Given the description of an element on the screen output the (x, y) to click on. 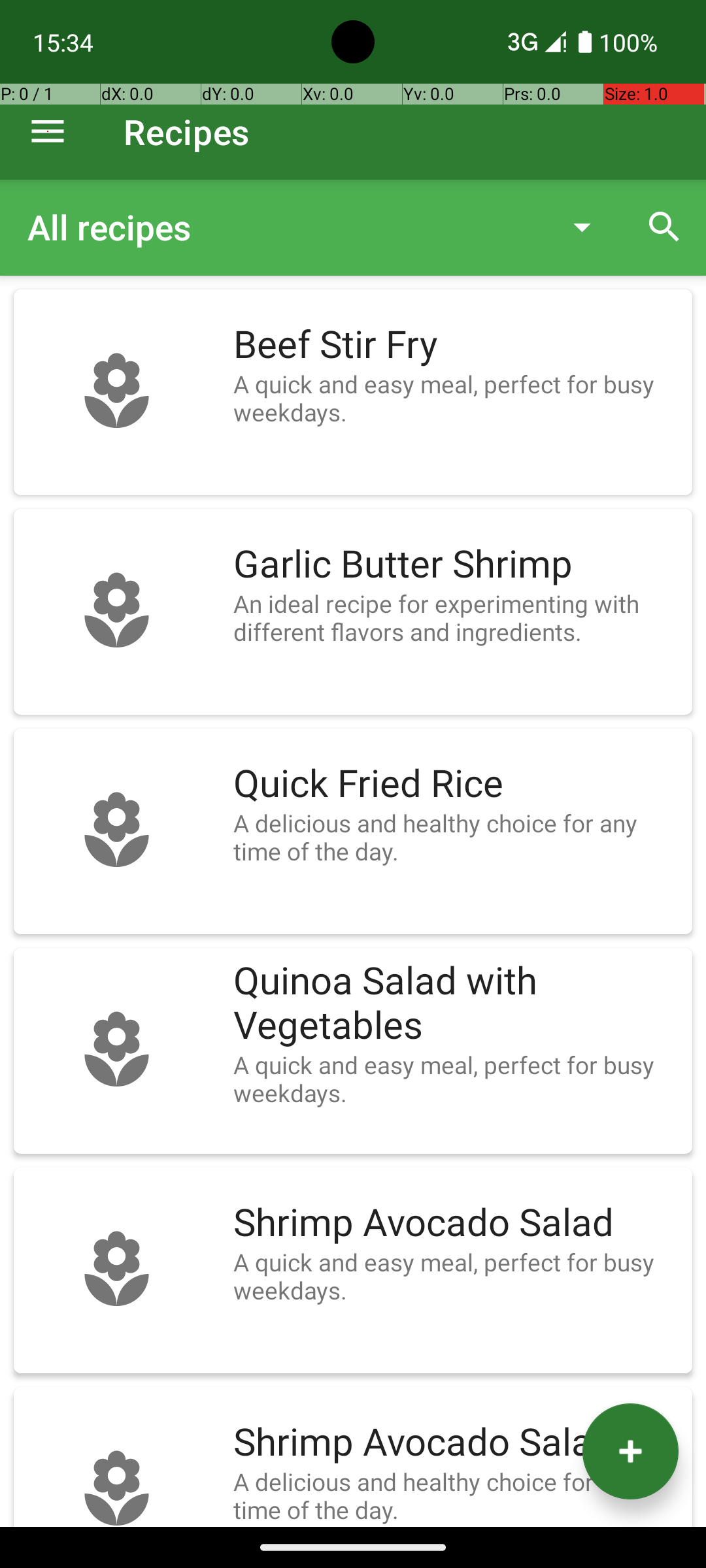
New Recipe Element type: android.widget.ImageButton (630, 1451)
All recipes Element type: android.widget.TextView (283, 226)
Recipe photo Element type: android.widget.ImageView (116, 392)
Beef Stir Fry Element type: android.widget.TextView (455, 344)
A quick and easy meal, perfect for busy weekdays. Element type: android.widget.TextView (455, 397)
Garlic Butter Shrimp Element type: android.widget.TextView (455, 564)
An ideal recipe for experimenting with different flavors and ingredients. Element type: android.widget.TextView (455, 617)
Quick Fried Rice Element type: android.widget.TextView (455, 783)
A delicious and healthy choice for any time of the day. Element type: android.widget.TextView (455, 836)
Quinoa Salad with Vegetables Element type: android.widget.TextView (455, 1003)
Shrimp Avocado Salad Element type: android.widget.TextView (455, 1222)
